Given the description of an element on the screen output the (x, y) to click on. 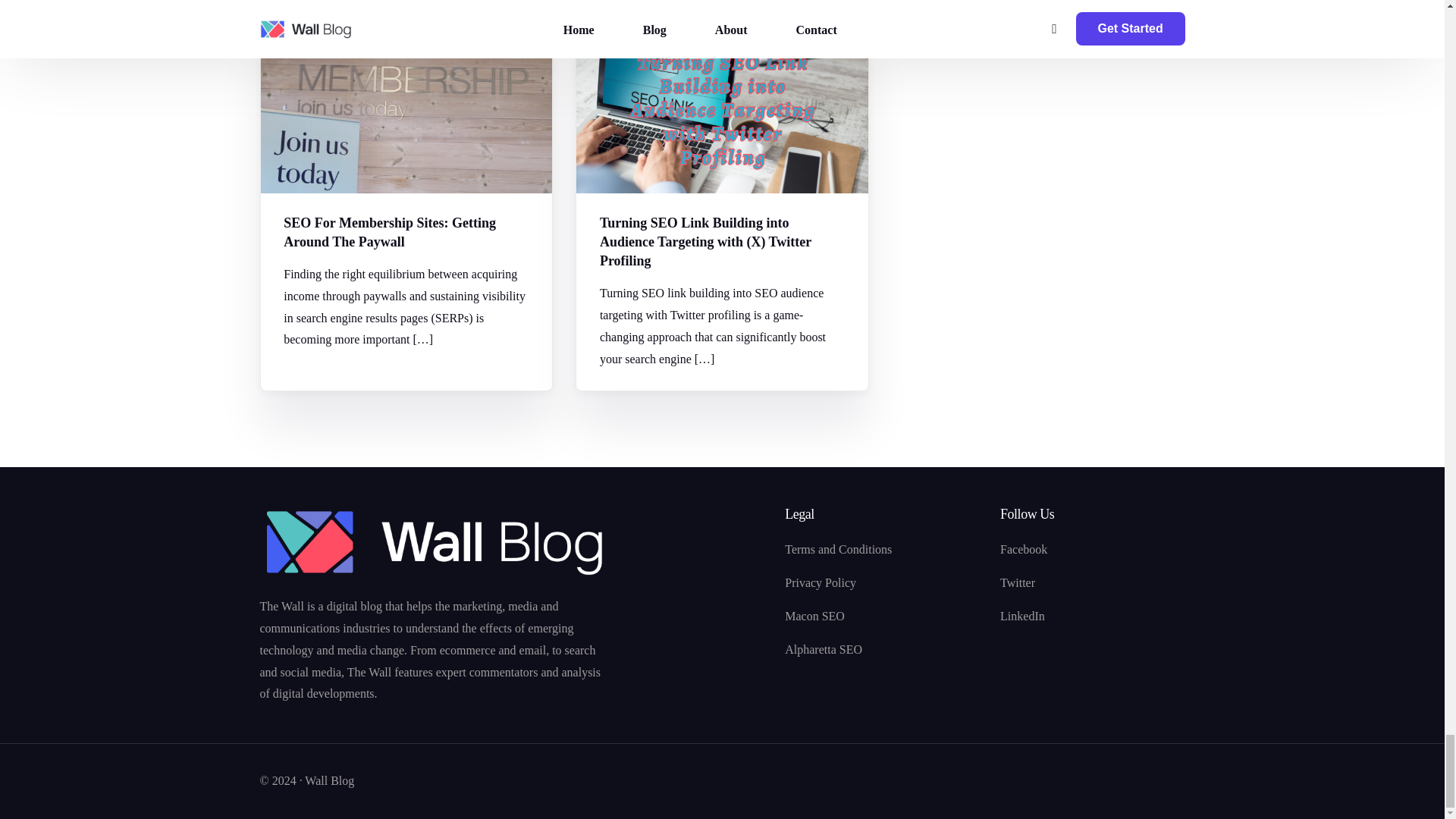
Terms and Conditions (884, 549)
SEO For Membership Sites: Getting Around The Paywall (405, 232)
